Given the description of an element on the screen output the (x, y) to click on. 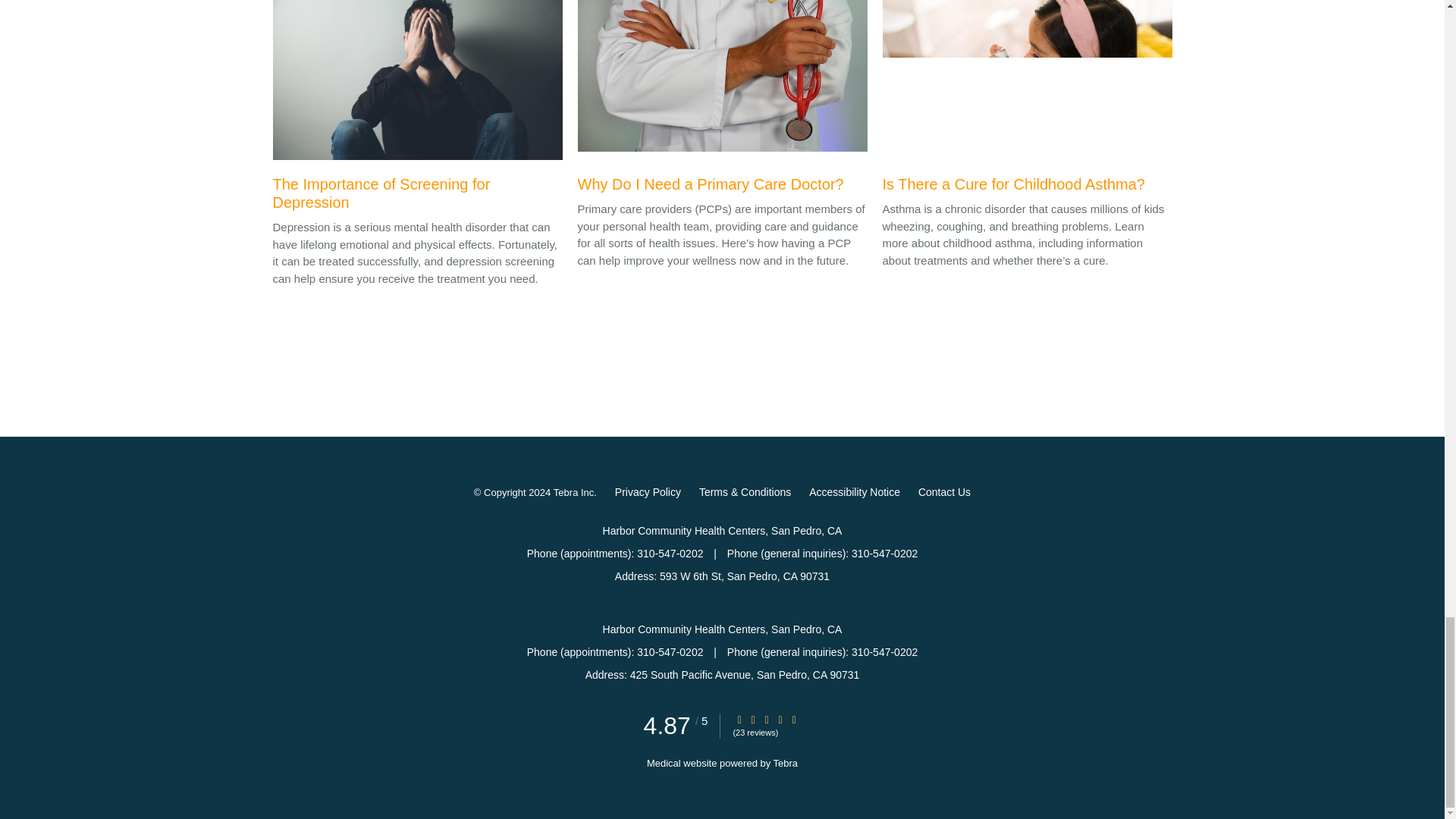
Star Rating (753, 719)
Star Rating (738, 719)
Star Rating (766, 719)
Star Rating (794, 719)
Star Rating (780, 719)
